Given the description of an element on the screen output the (x, y) to click on. 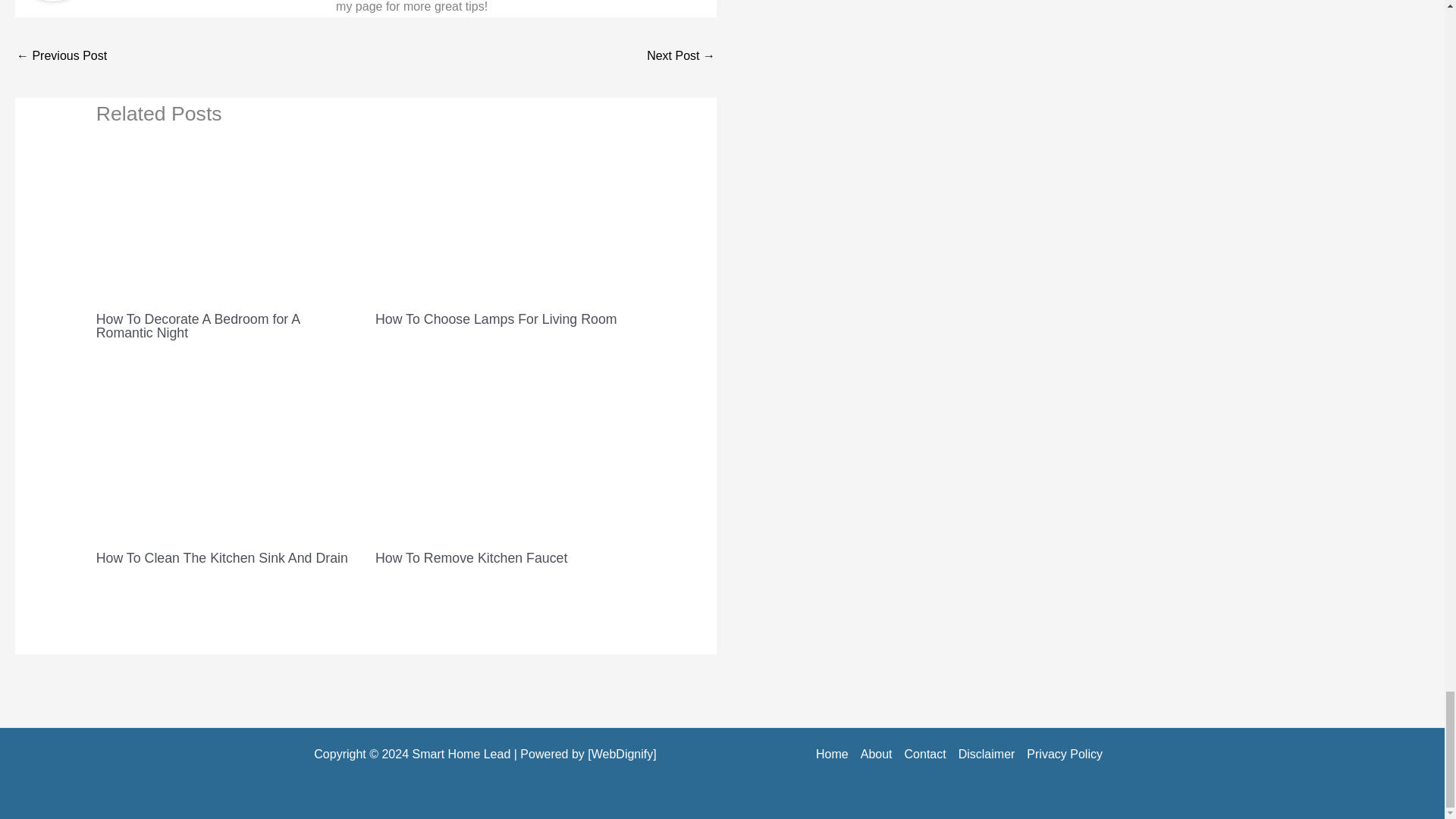
How To Choose Lamps For Living Room (496, 319)
How To Remove Kitchen Faucet (471, 557)
How To Decorate A Bedroom for A Romantic Night (197, 326)
How To Get Rid Of Gnats In The Kitchen (680, 57)
How To Decorate A Slanted Wall Bedroom (61, 57)
How To Clean The Kitchen Sink And Drain (221, 557)
